Given the description of an element on the screen output the (x, y) to click on. 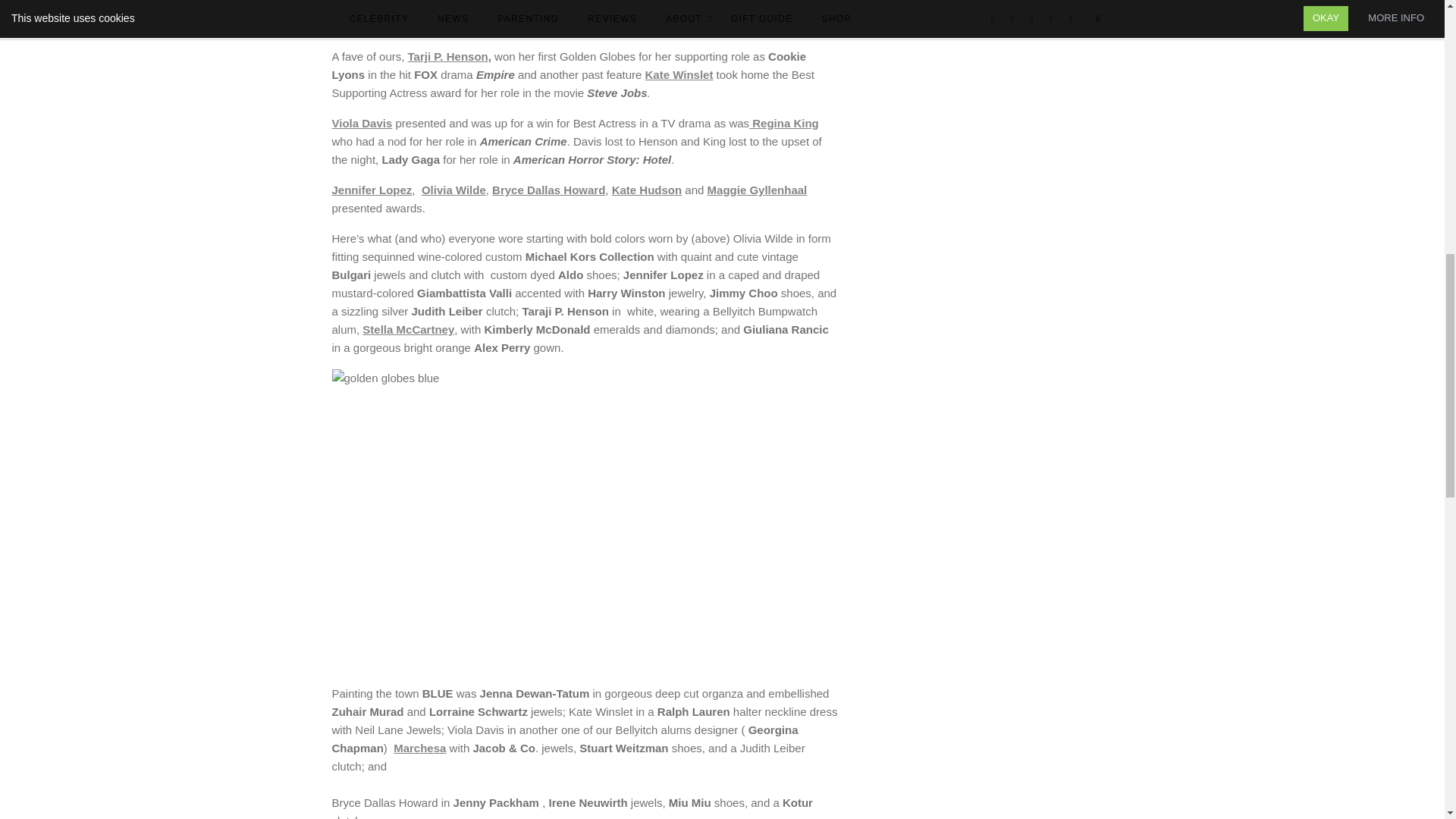
Jennifer Lopez (371, 189)
Marchesa (419, 748)
Olivia Wilde (454, 189)
Maggie Gyllenhaal (757, 189)
Stella McCartney (408, 328)
Regina King (783, 123)
Viola Davis (362, 123)
Bryce Dallas Howard (548, 189)
Tarji P. Henson (447, 56)
Kate Winslet (679, 74)
Kate Hudson (646, 189)
